Given the description of an element on the screen output the (x, y) to click on. 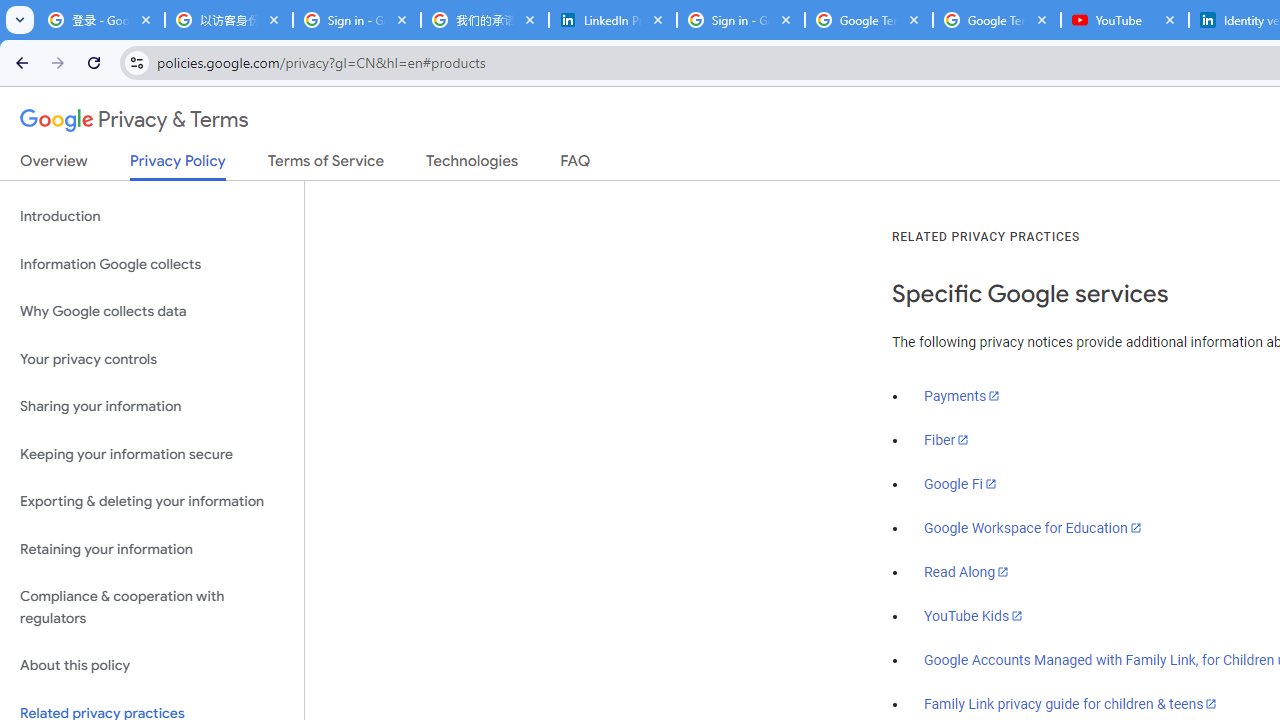
Sign in - Google Accounts (357, 20)
Sign in - Google Accounts (741, 20)
Overview (54, 165)
Privacy & Terms (134, 120)
FAQ (575, 165)
Information Google collects (152, 263)
Fiber (947, 440)
Sharing your information (152, 407)
